Given the description of an element on the screen output the (x, y) to click on. 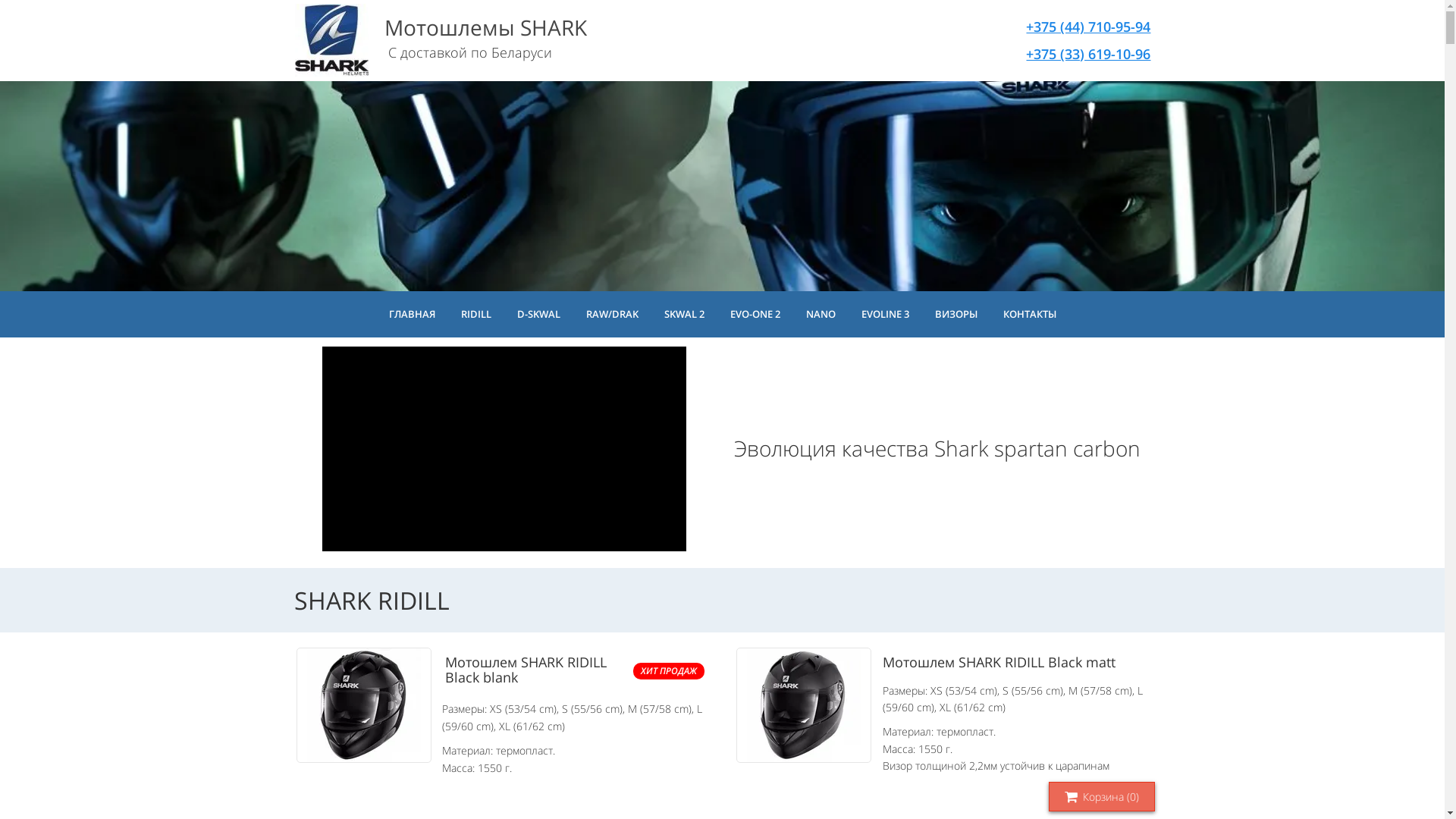
+375 (44) 710-95-94 Element type: text (1088, 26)
NANO Element type: text (820, 314)
RIDILL Element type: text (475, 314)
EVO-ONE 2 Element type: text (754, 314)
SKWAL 2 Element type: text (684, 314)
RAW/DRAK Element type: text (611, 314)
D-SKWAL Element type: text (538, 314)
+375 (33) 619-10-96 Element type: text (1088, 52)
EVOLINE 3 Element type: text (885, 314)
